Given the description of an element on the screen output the (x, y) to click on. 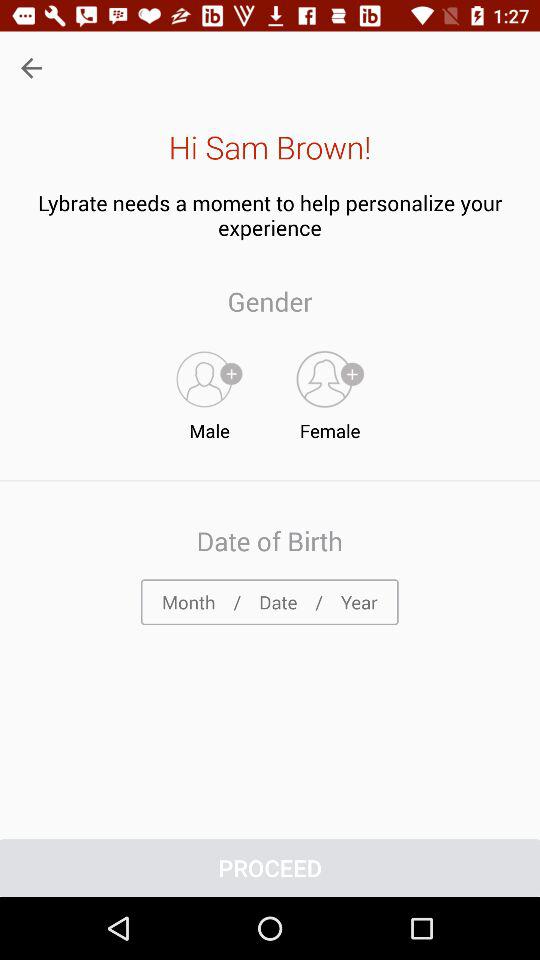
open male item (209, 391)
